Given the description of an element on the screen output the (x, y) to click on. 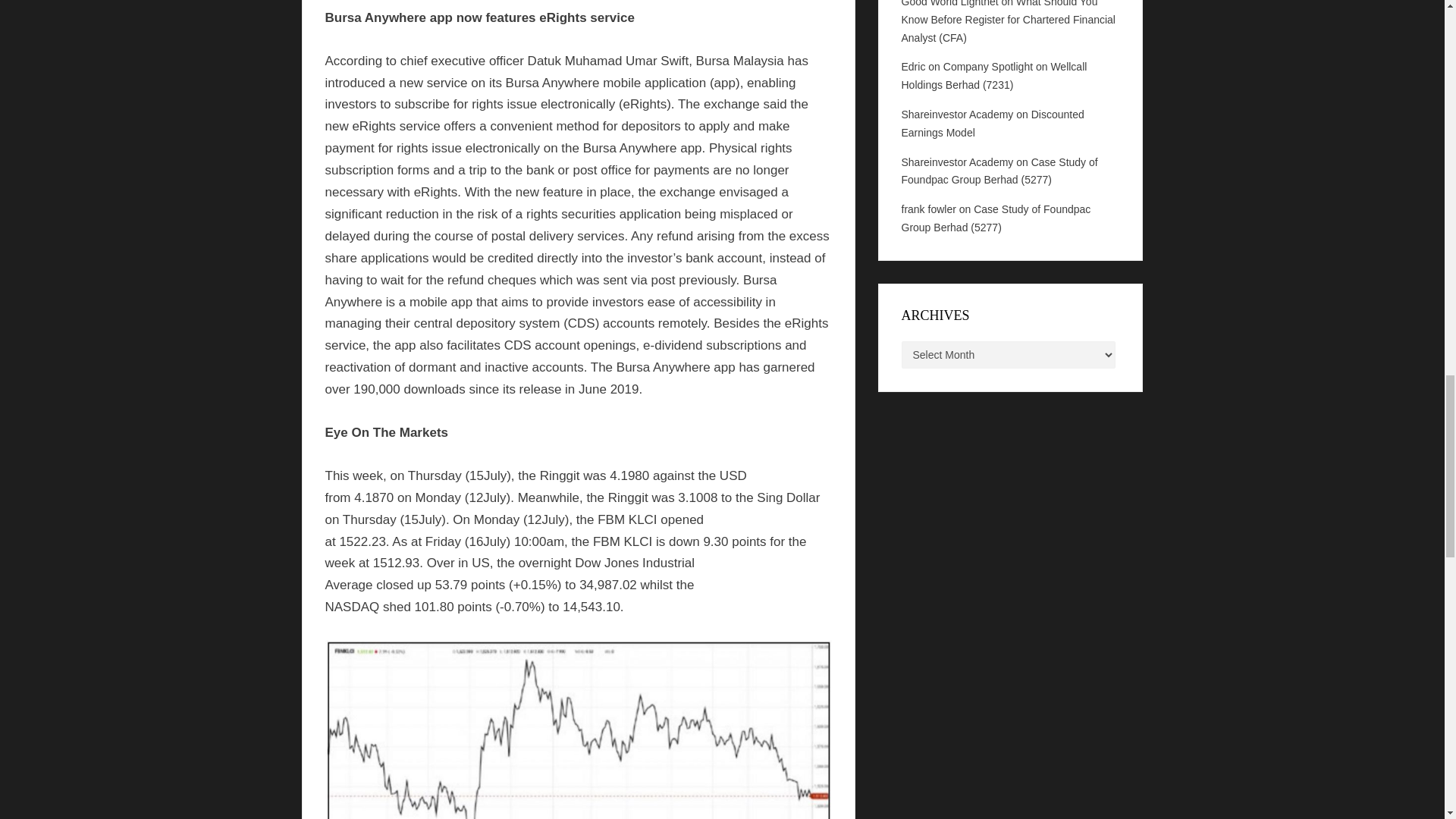
Discounted Earnings Model (992, 123)
Good World Lightnet (949, 3)
Shareinvestor Academy (957, 114)
Shareinvestor Academy (957, 162)
